Given the description of an element on the screen output the (x, y) to click on. 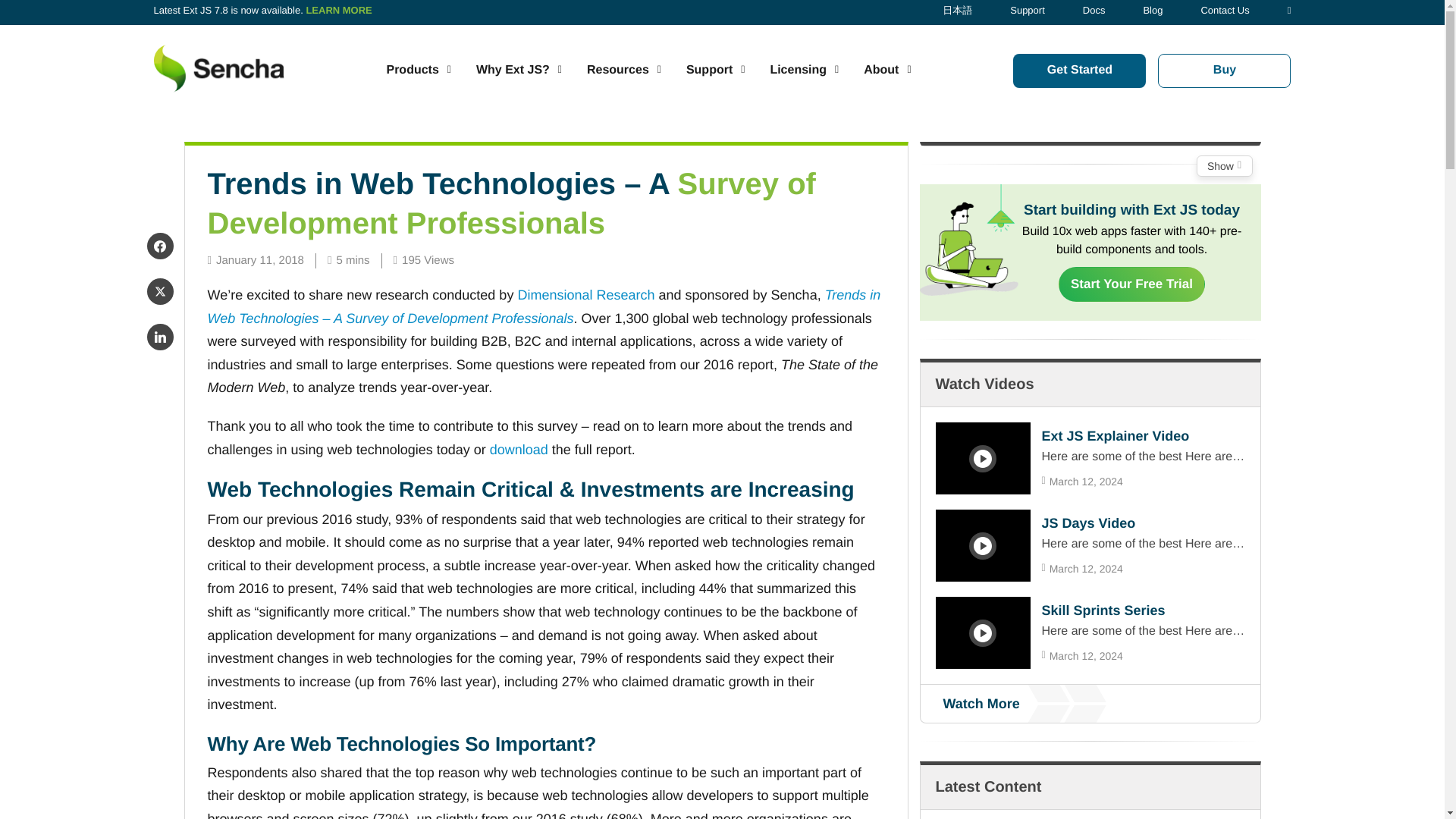
LEARN MORE (338, 9)
Share on LinkedIn (160, 336)
Products (417, 70)
Contact Us (1224, 9)
Support (1027, 9)
Share on Twitter (160, 291)
Blog (1151, 9)
Share on Facebook (160, 245)
Docs (1094, 9)
Why Ext JS? (519, 70)
